Given the description of an element on the screen output the (x, y) to click on. 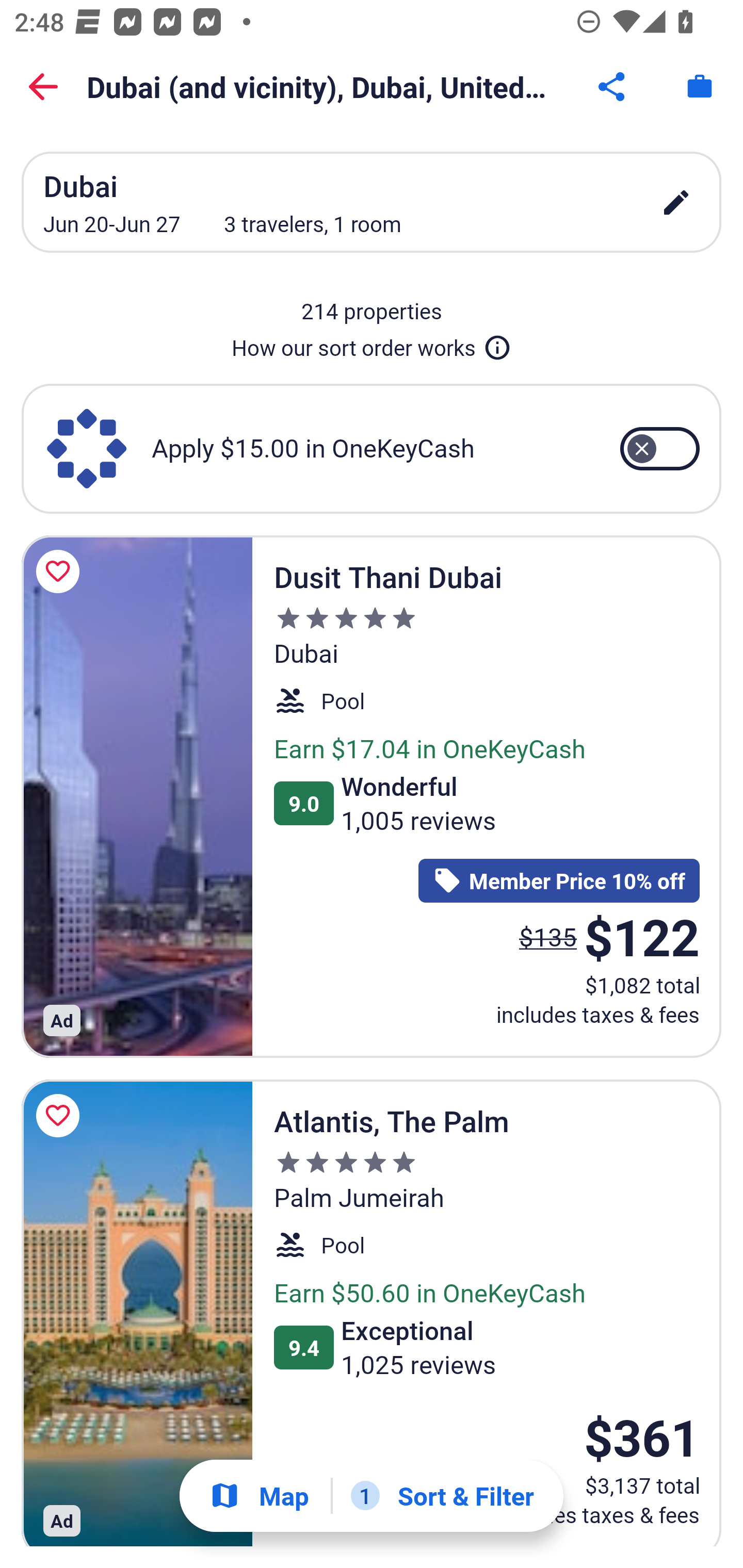
Back (43, 86)
Share Button (612, 86)
Trips. Button (699, 86)
Dubai Jun 20-Jun 27 3 travelers, 1 room edit (371, 202)
How our sort order works (371, 344)
Save Dusit Thani Dubai to a trip (61, 571)
Dusit Thani Dubai (136, 796)
$135 The price was $135 (547, 936)
Save Atlantis, The Palm to a trip (61, 1115)
Atlantis, The Palm (136, 1312)
1 Sort & Filter 1 Filter applied. Filters Button (442, 1495)
Show map Map Show map Button (258, 1495)
